Given the description of an element on the screen output the (x, y) to click on. 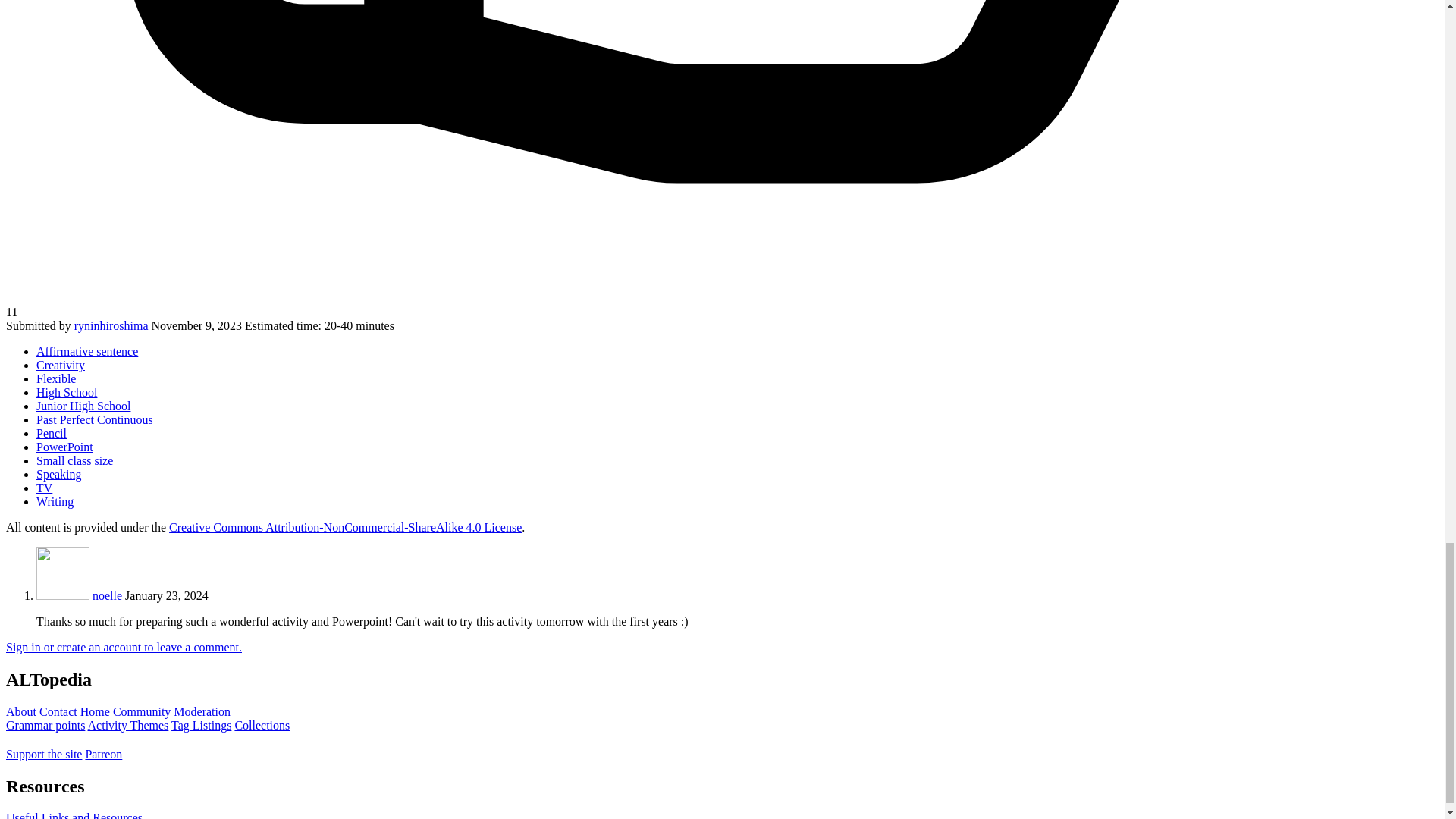
PowerPoint (64, 446)
TV (44, 487)
Activity Themes (127, 725)
Tag Listings (201, 725)
Writing (55, 501)
Past Perfect Continuous (94, 419)
Small class size (74, 460)
Pencil (51, 432)
Patreon (103, 753)
Grammar points (44, 725)
Junior High School (83, 405)
Creativity (60, 364)
Home (95, 711)
ryninhiroshima (111, 325)
About (20, 711)
